Given the description of an element on the screen output the (x, y) to click on. 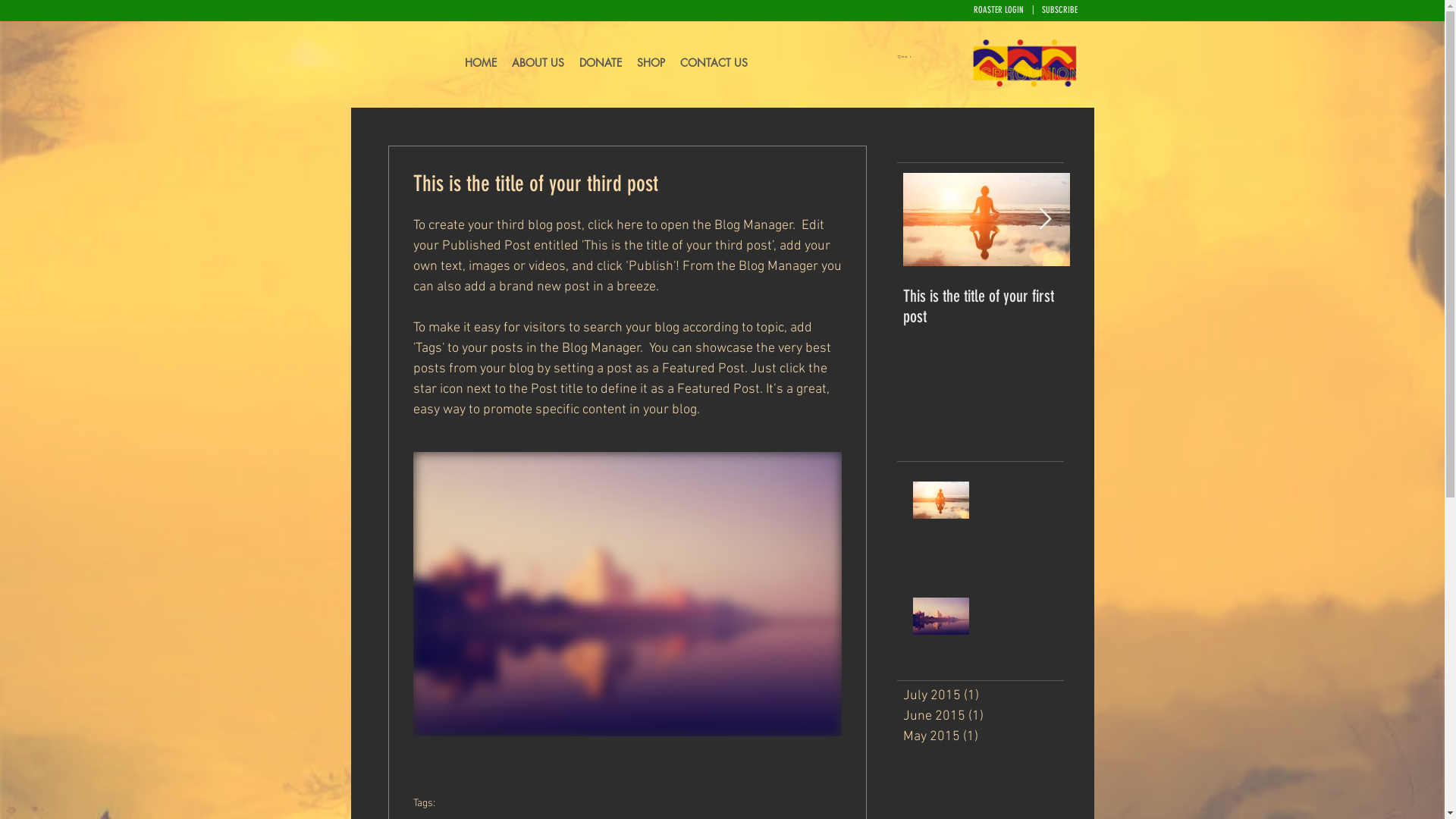
LA JACOBA Element type: hover (388, 62)
This is the title of your second post Element type: text (991, 563)
SUBSCRIBE Element type: text (1056, 14)
This is the title of your first post Element type: text (1019, 512)
This is the title of your third post Element type: text (1019, 628)
Asprounion Element type: hover (1024, 62)
DONATE Element type: text (600, 62)
My Cart
0 Element type: text (903, 56)
HOME Element type: text (479, 62)
SHOP Element type: text (650, 62)
May 2015 (1) Element type: text (982, 736)
June 2015 (1) Element type: text (982, 716)
This is the title of your first post Element type: text (985, 305)
July 2015 (1) Element type: text (982, 695)
CONTACT US Element type: text (712, 62)
This is the title of your second post Element type: text (1152, 305)
ROASTER LOGIN Element type: text (990, 14)
ABOUT US Element type: text (537, 62)
